Given the description of an element on the screen output the (x, y) to click on. 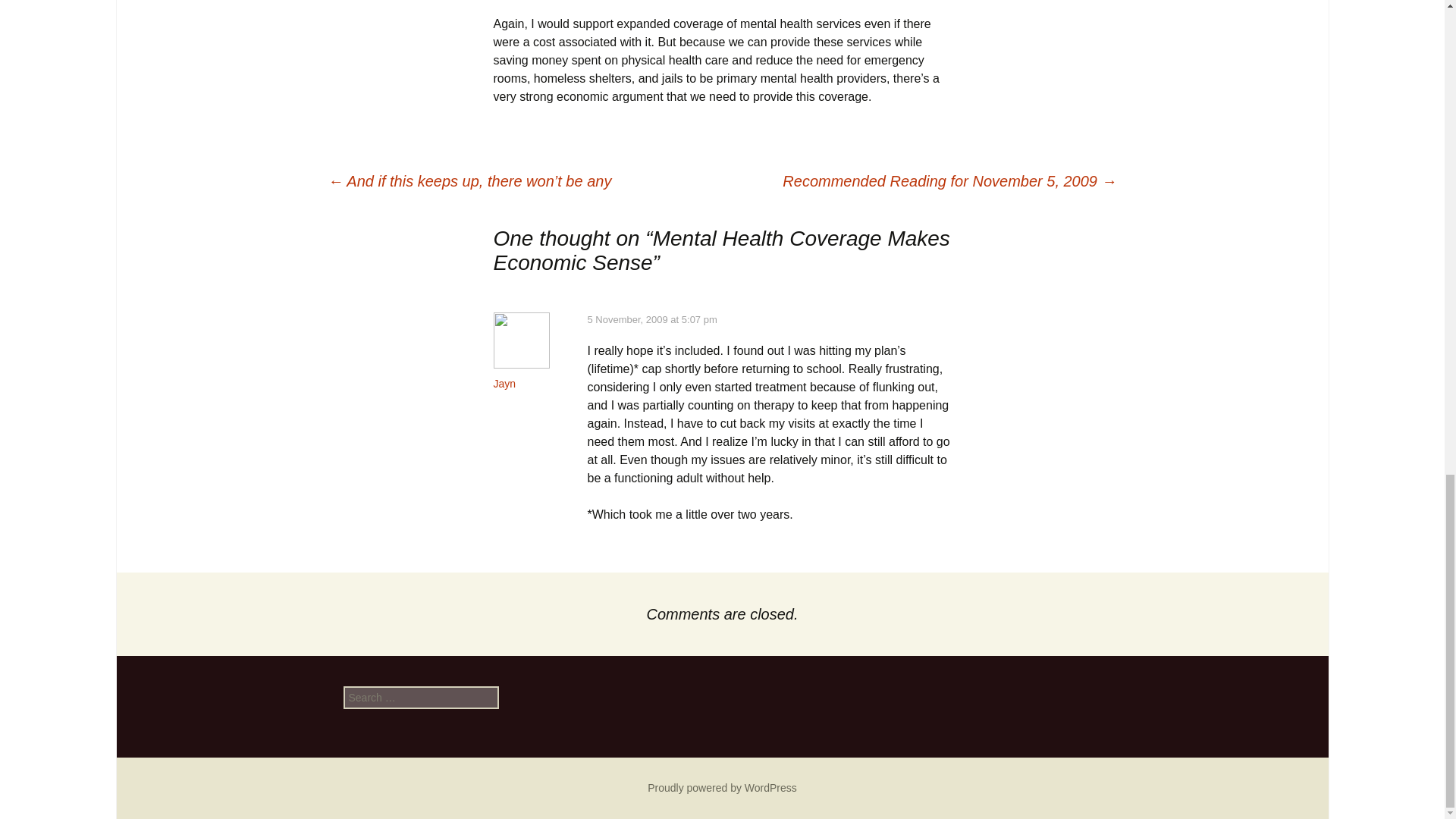
Proudly powered by WordPress (721, 787)
5 November, 2009 at 5:07 pm (651, 319)
